Given the description of an element on the screen output the (x, y) to click on. 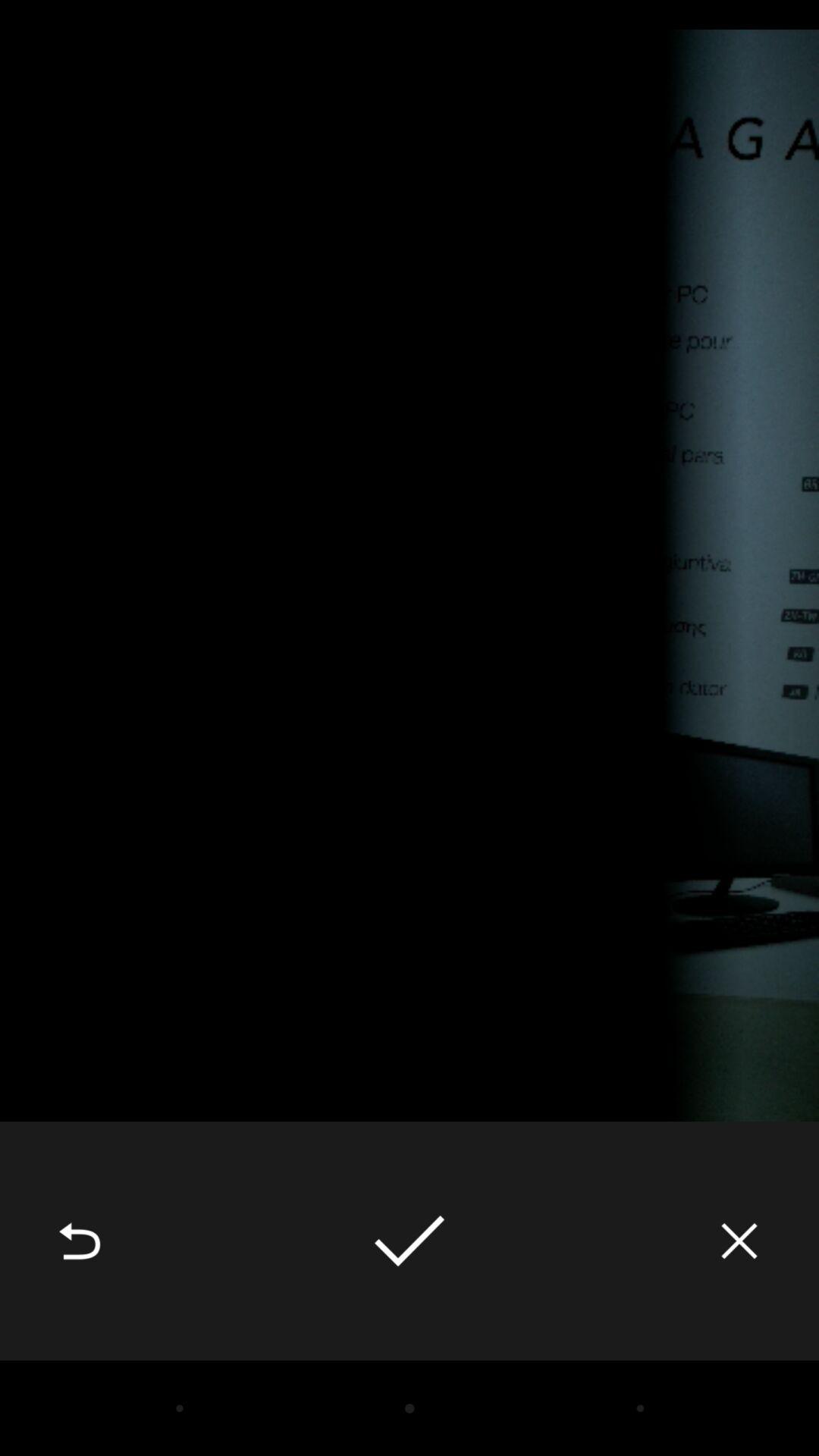
turn on icon at the bottom right corner (739, 1240)
